Given the description of an element on the screen output the (x, y) to click on. 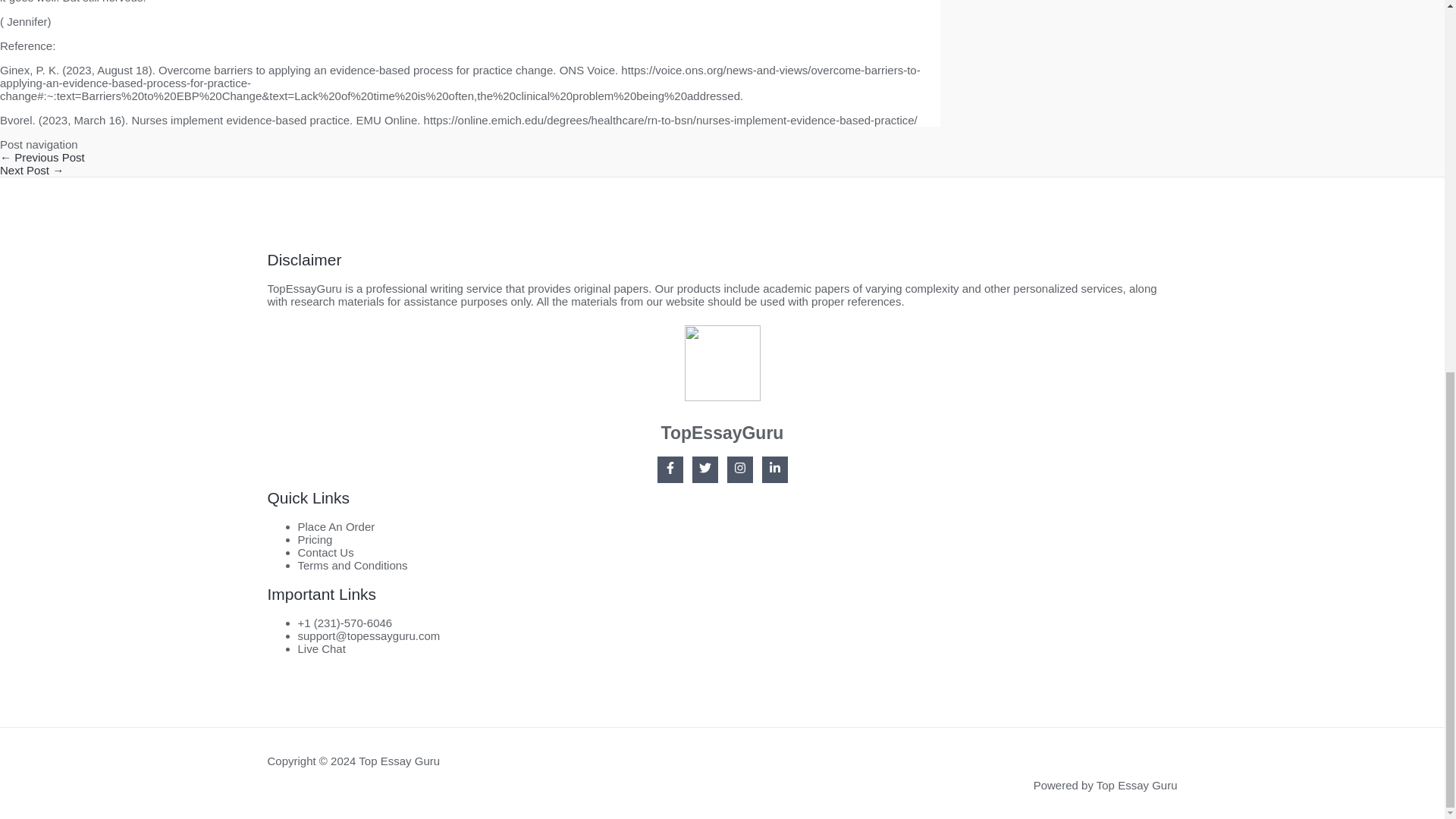
Terms and Conditions (352, 564)
Research Questions (32, 169)
DISCUSSION 2 (42, 156)
Contact Us (325, 552)
Place An Order (335, 526)
Live Chat (321, 648)
Pricing (314, 539)
